Given the description of an element on the screen output the (x, y) to click on. 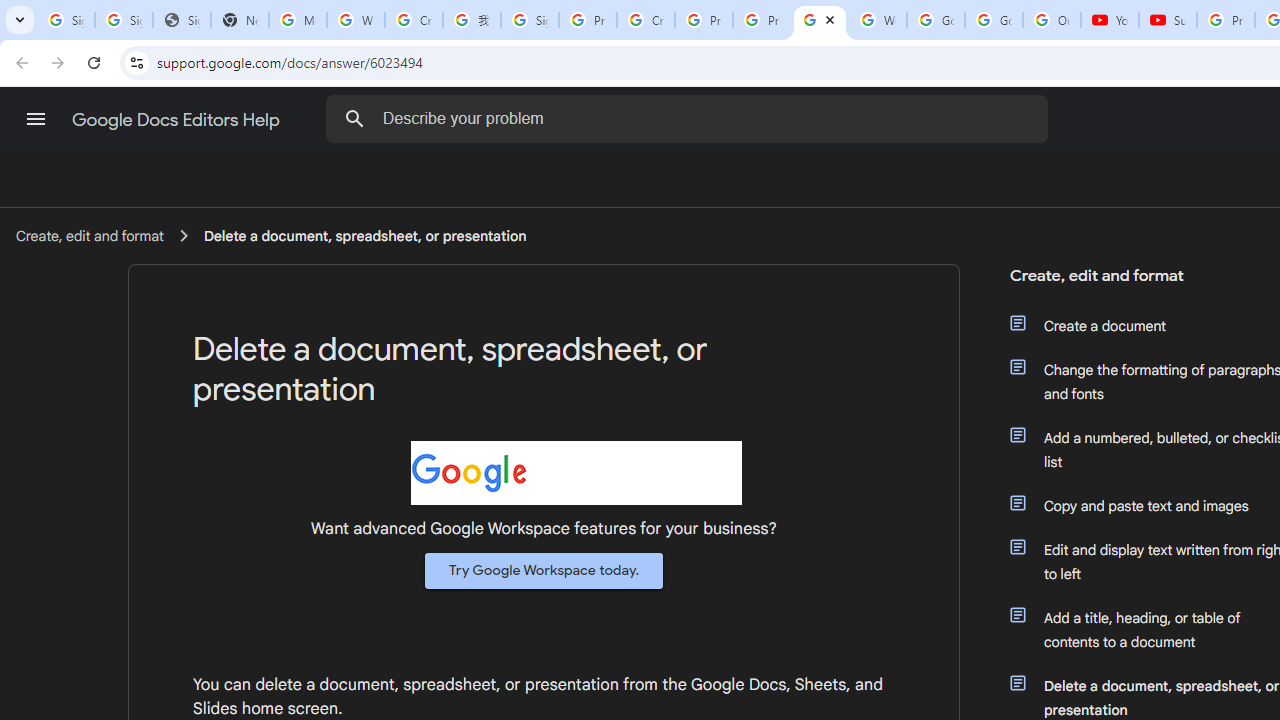
Describe your problem (689, 118)
Sign in - Google Accounts (65, 20)
Search the Help Center (354, 118)
New Tab (239, 20)
